Given the description of an element on the screen output the (x, y) to click on. 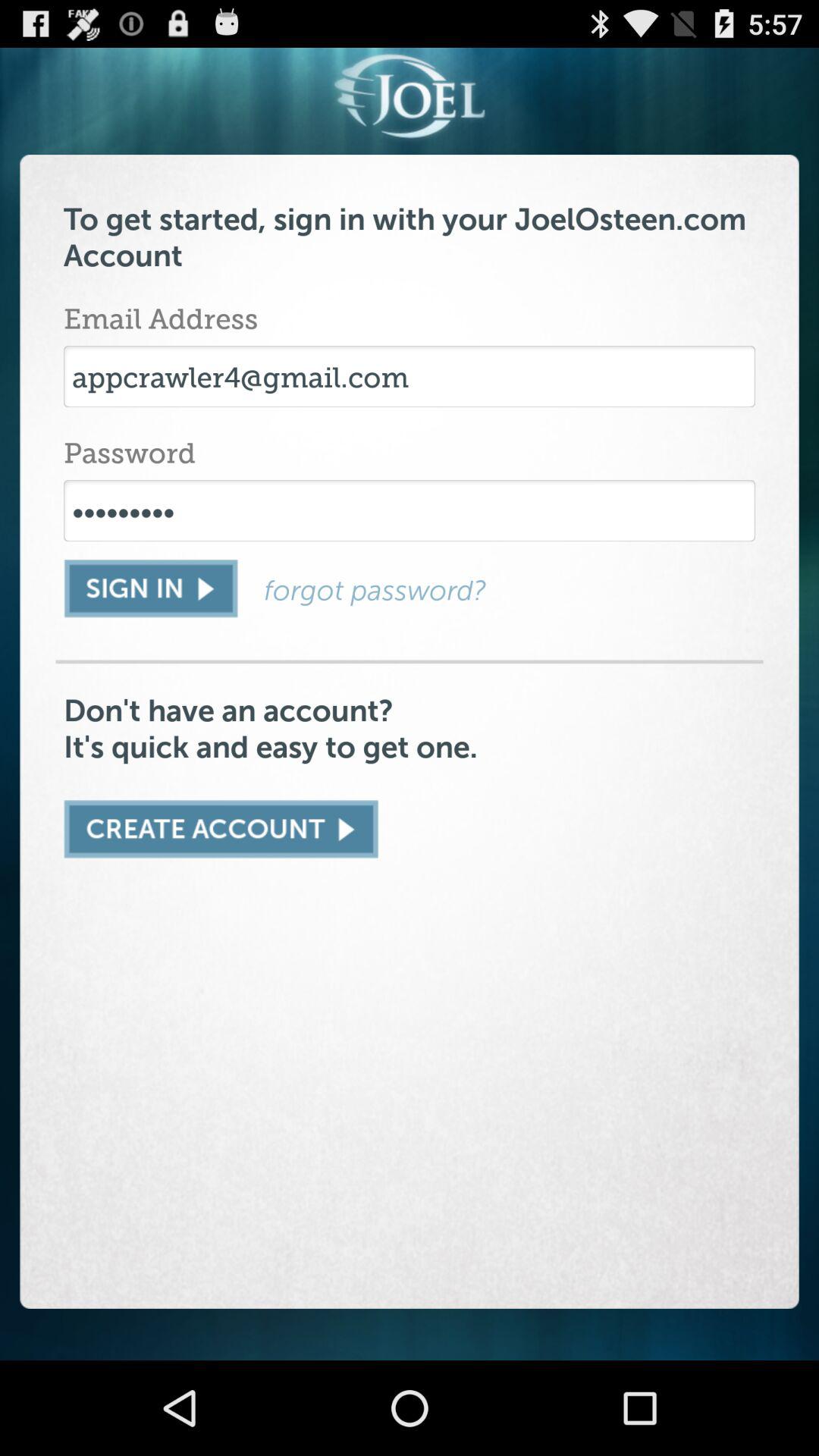
choose the forgot password? (509, 590)
